Given the description of an element on the screen output the (x, y) to click on. 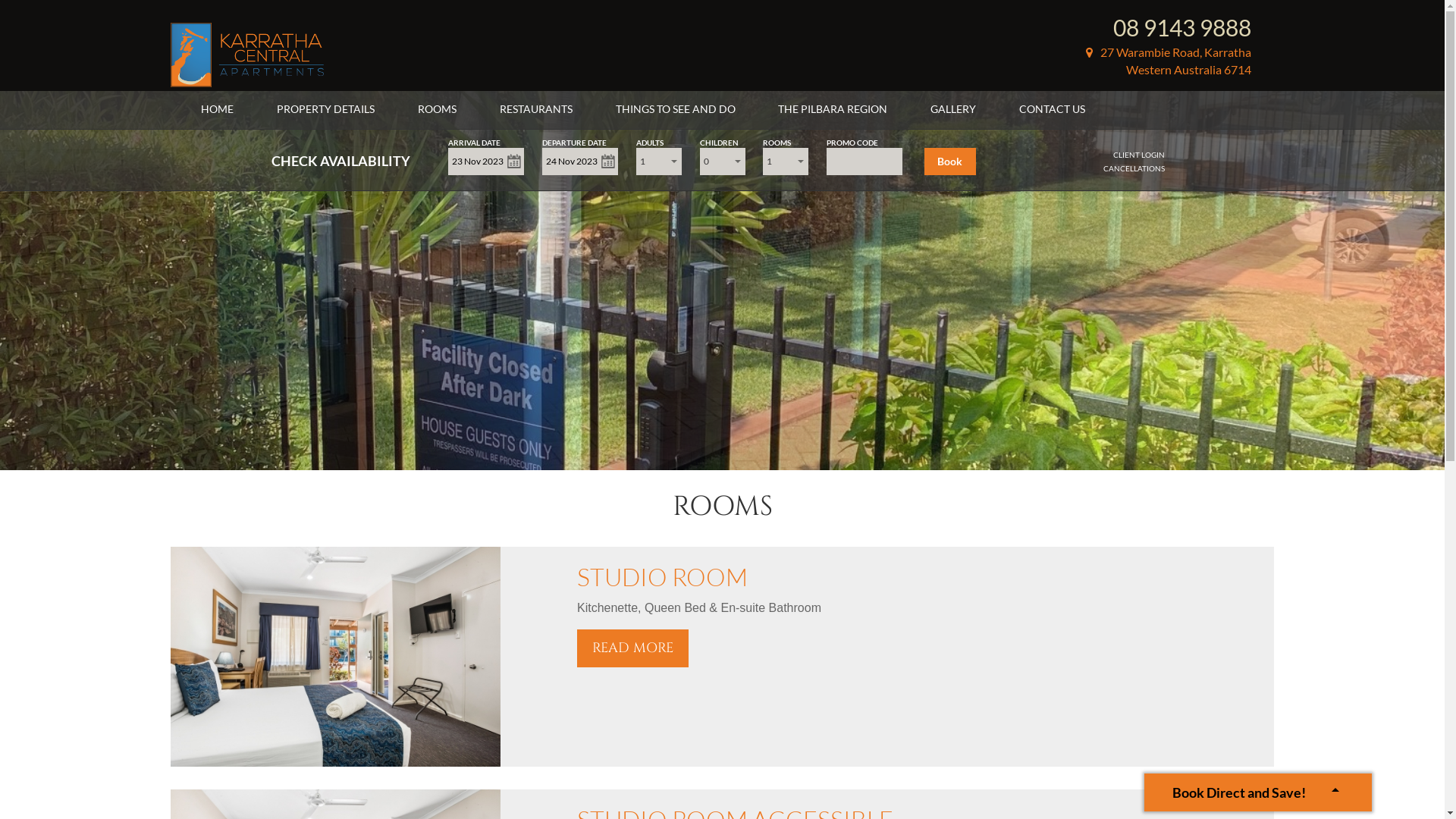
THINGS TO SEE AND DO Element type: text (675, 109)
Book Element type: text (949, 161)
HOME Element type: text (216, 109)
27 Warambie Road, Karratha
Western Australia 6714 Element type: text (1168, 60)
PROPERTY DETAILS Element type: text (325, 109)
08 9143 9888 Element type: text (1182, 26)
GALLERY Element type: text (952, 109)
RESTAURANTS Element type: text (535, 109)
READ MORE Element type: text (632, 648)
THE PILBARA REGION Element type: text (832, 109)
CONTACT US Element type: text (1052, 109)
CLIENT LOGIN Element type: text (1138, 154)
ROOMS Element type: text (436, 109)
STUDIO ROOM Element type: text (662, 576)
CANCELLATIONS Element type: text (1133, 167)
